Given the description of an element on the screen output the (x, y) to click on. 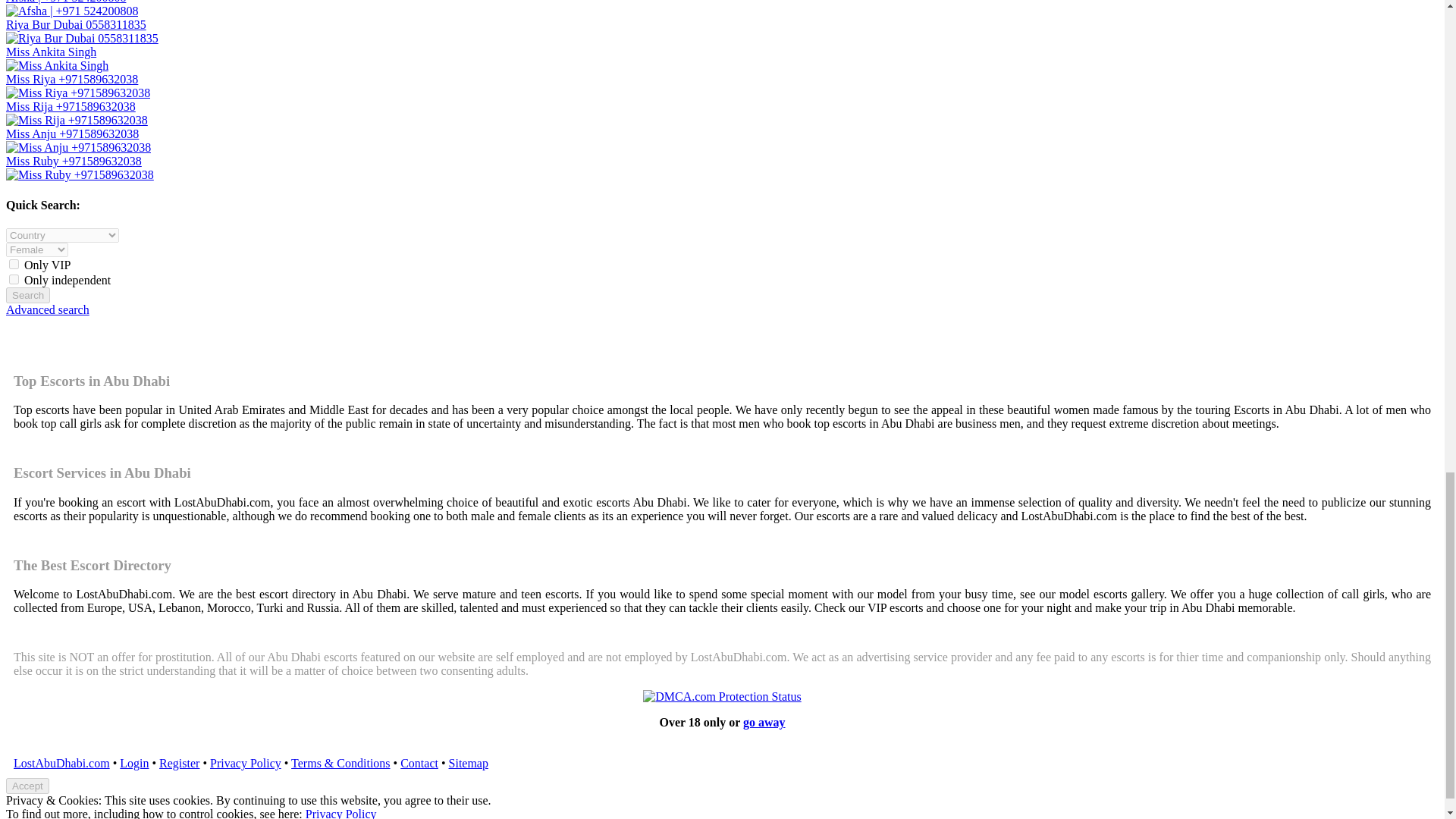
Login (133, 762)
1 (13, 264)
Contact (419, 762)
Advanced search (46, 309)
Accept (27, 785)
Privacy Policy (245, 762)
Search (27, 295)
Search (27, 295)
yes (13, 279)
go away (764, 721)
Sitemap (467, 762)
LostAbuDhabi.com (61, 762)
Register (178, 762)
Accept (27, 785)
